Given the description of an element on the screen output the (x, y) to click on. 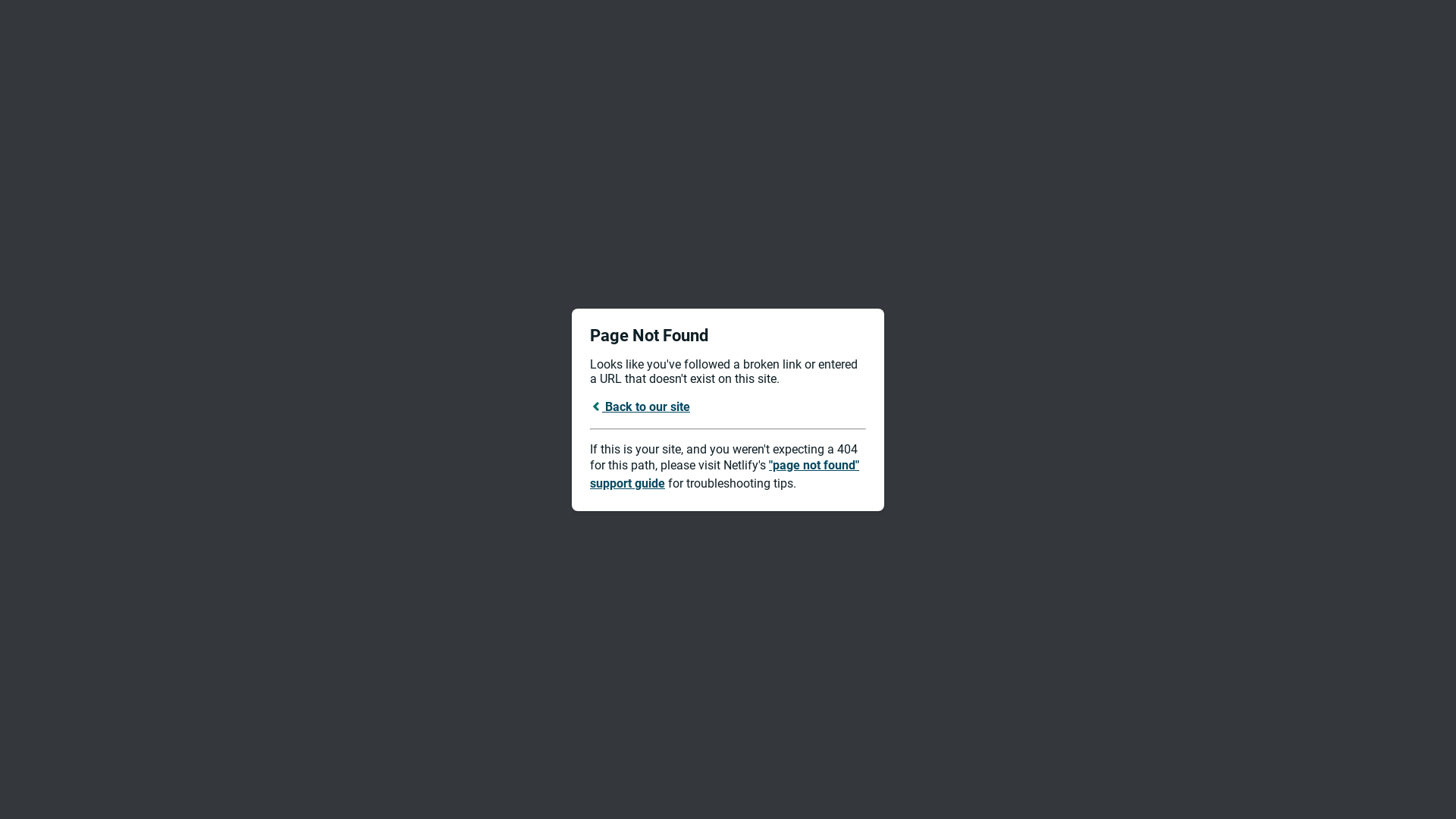
Back to our site Element type: text (639, 405)
"page not found" support guide Element type: text (724, 474)
